Given the description of an element on the screen output the (x, y) to click on. 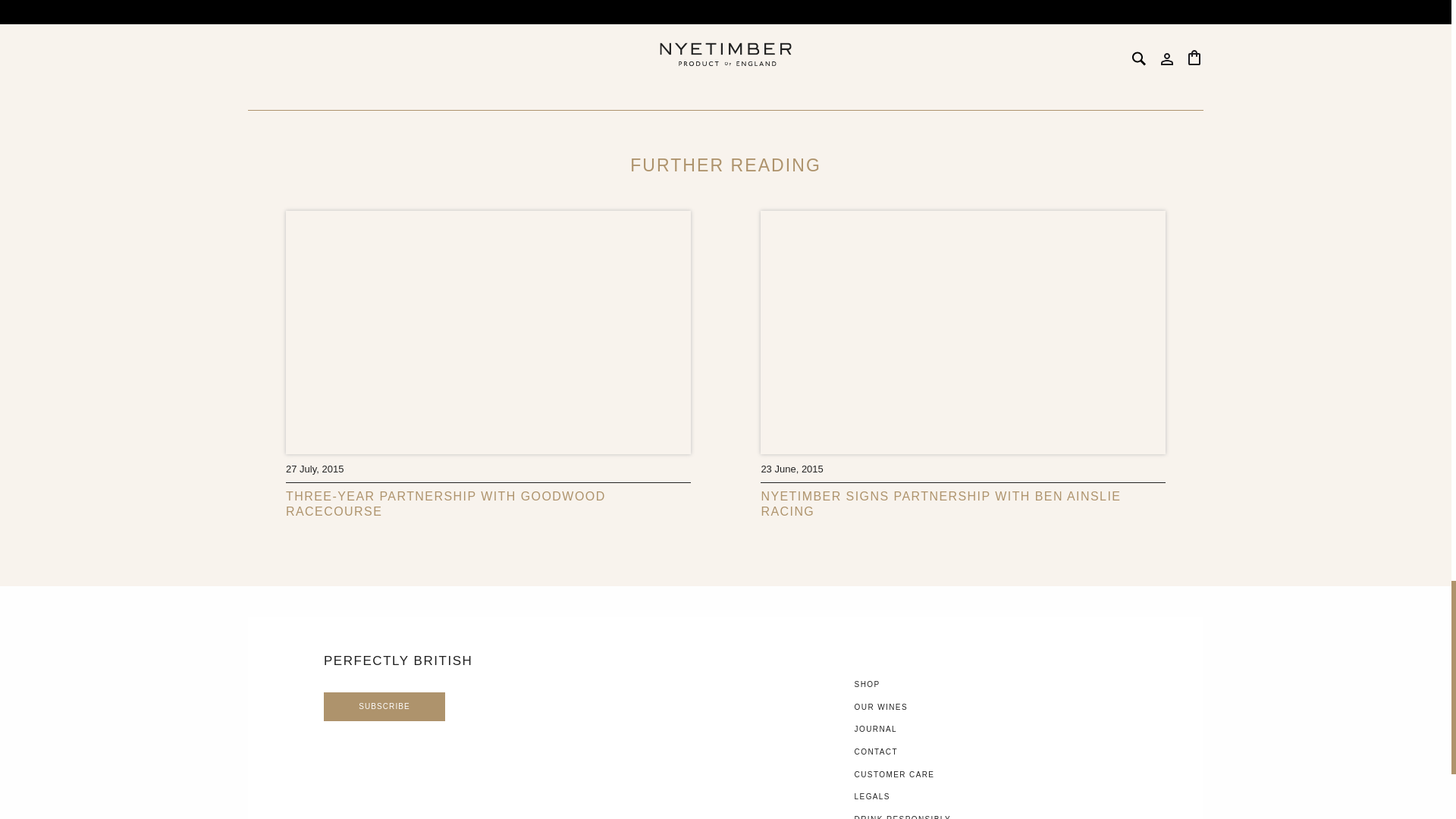
JOURNAL (875, 728)
CUSTOMER CARE (894, 774)
LEGALS (871, 796)
CONTACT (876, 751)
DRINK RESPONSIBLY (903, 816)
SUBSCRIBE (384, 706)
OUR WINES (880, 706)
SHOP (867, 684)
